Given the description of an element on the screen output the (x, y) to click on. 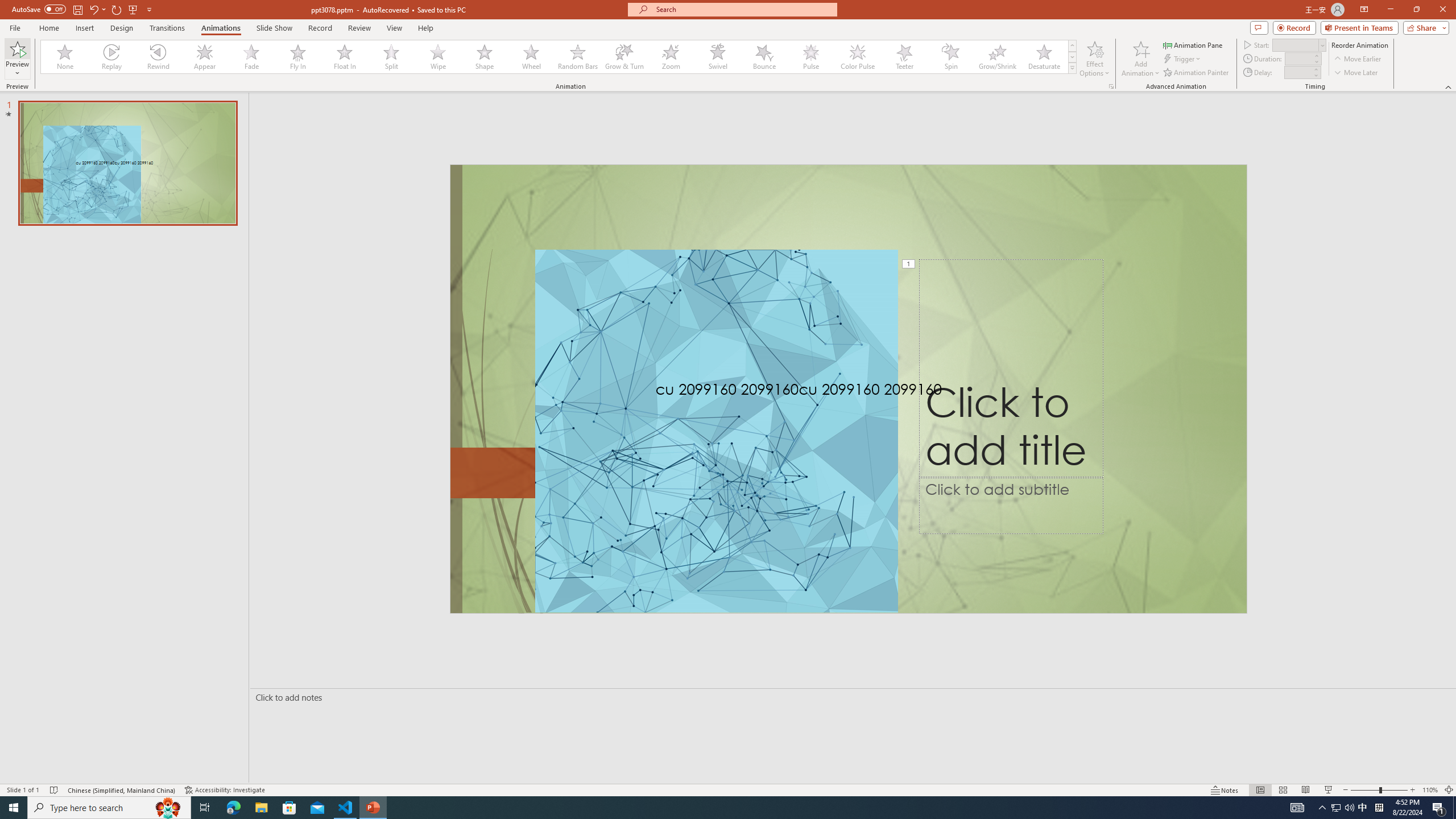
Swivel (717, 56)
Grow/Shrink (997, 56)
Desaturate (1043, 56)
Animation Styles (1071, 67)
Random Bars (577, 56)
Float In (344, 56)
AutomationID: AnimationGallery (558, 56)
